Given the description of an element on the screen output the (x, y) to click on. 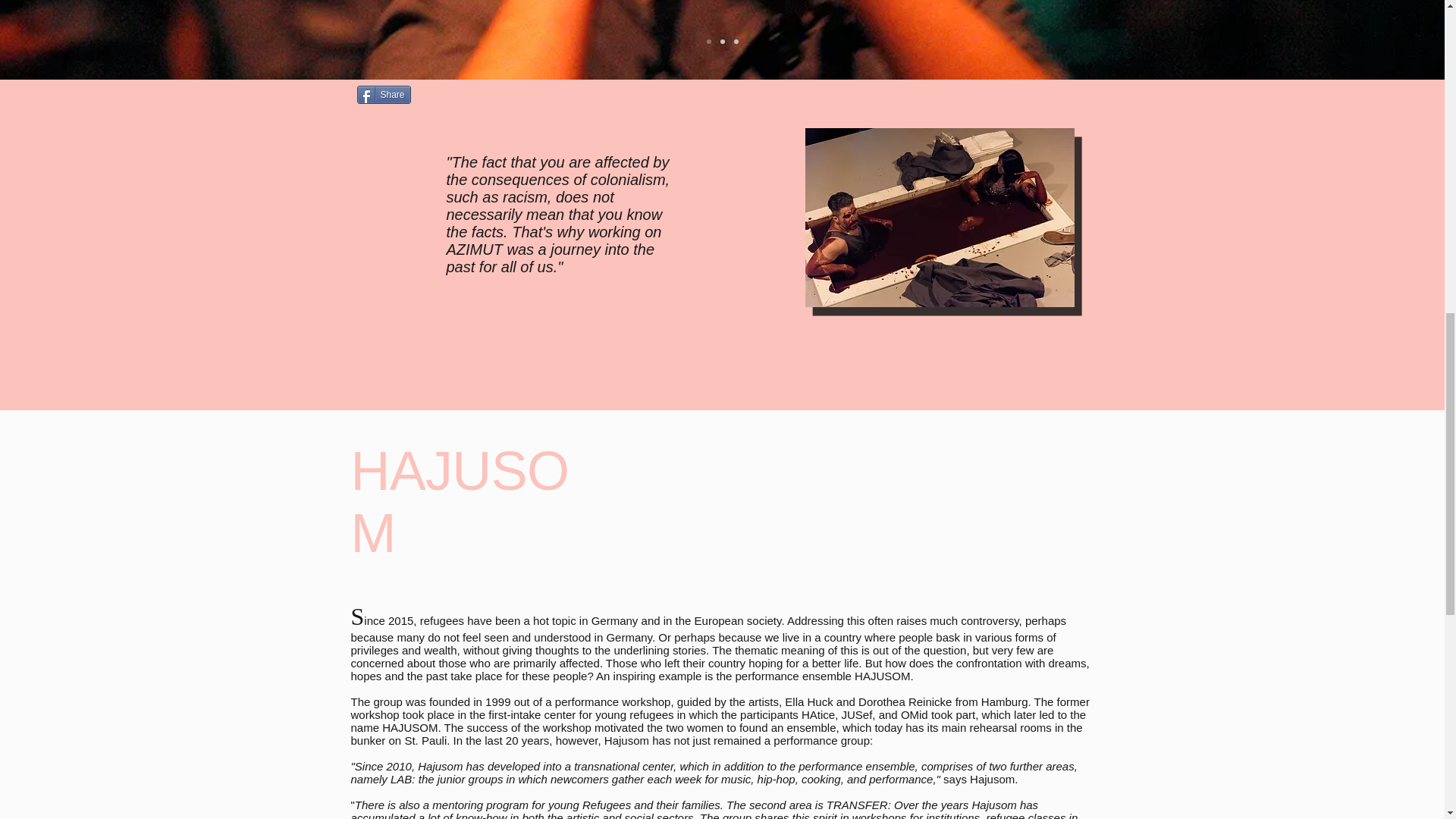
Share (383, 94)
Share (383, 94)
